Given the description of an element on the screen output the (x, y) to click on. 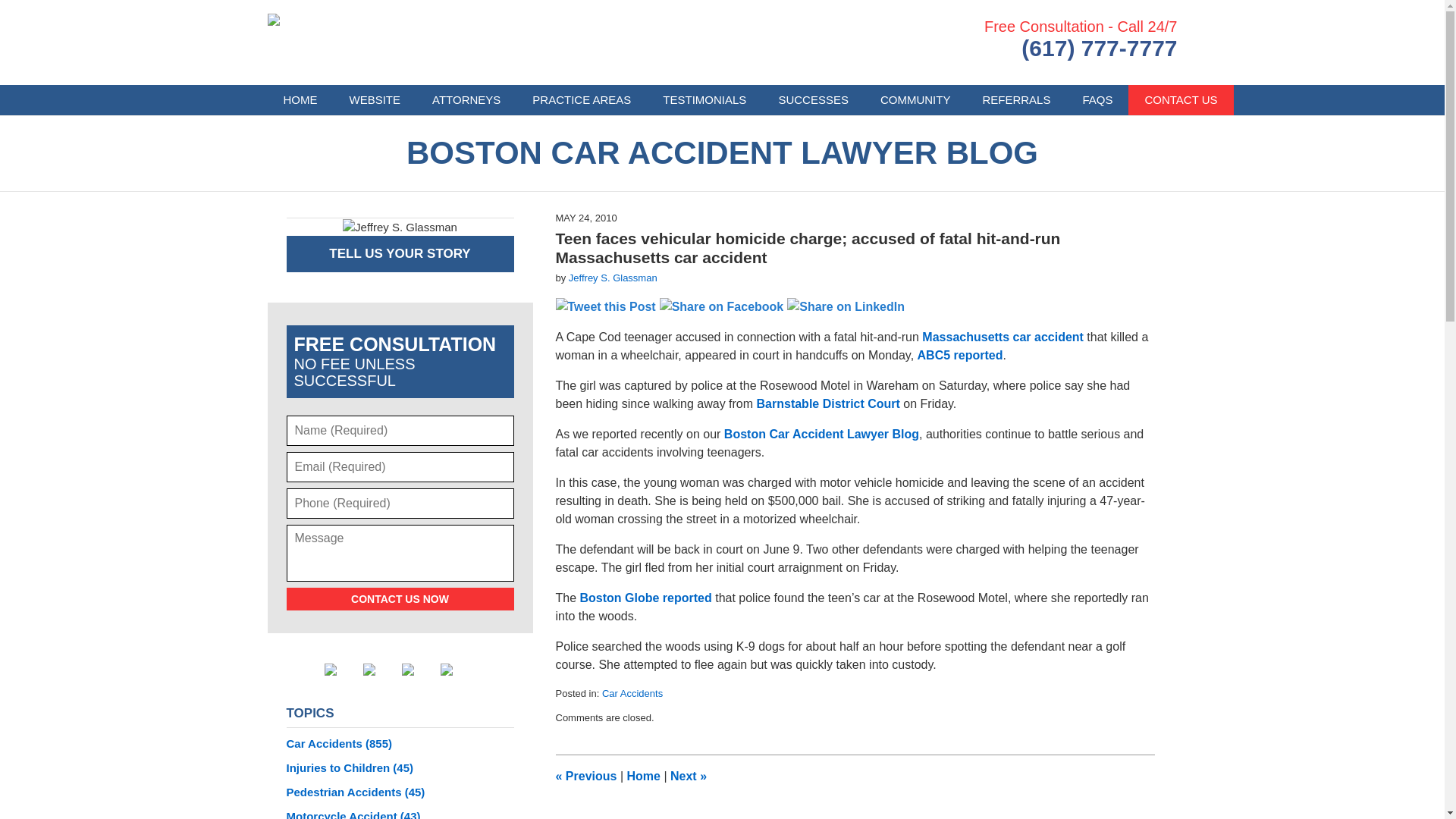
PRACTICE AREAS (581, 100)
View all posts in Car Accidents (632, 693)
Barnstable District Court (830, 403)
REFERRALS (1015, 100)
Car Accidents (632, 693)
Jeffrey S. Glassman (613, 277)
COMMUNITY (915, 100)
CONTACT US (1180, 100)
ABC5 reported (960, 354)
